Given the description of an element on the screen output the (x, y) to click on. 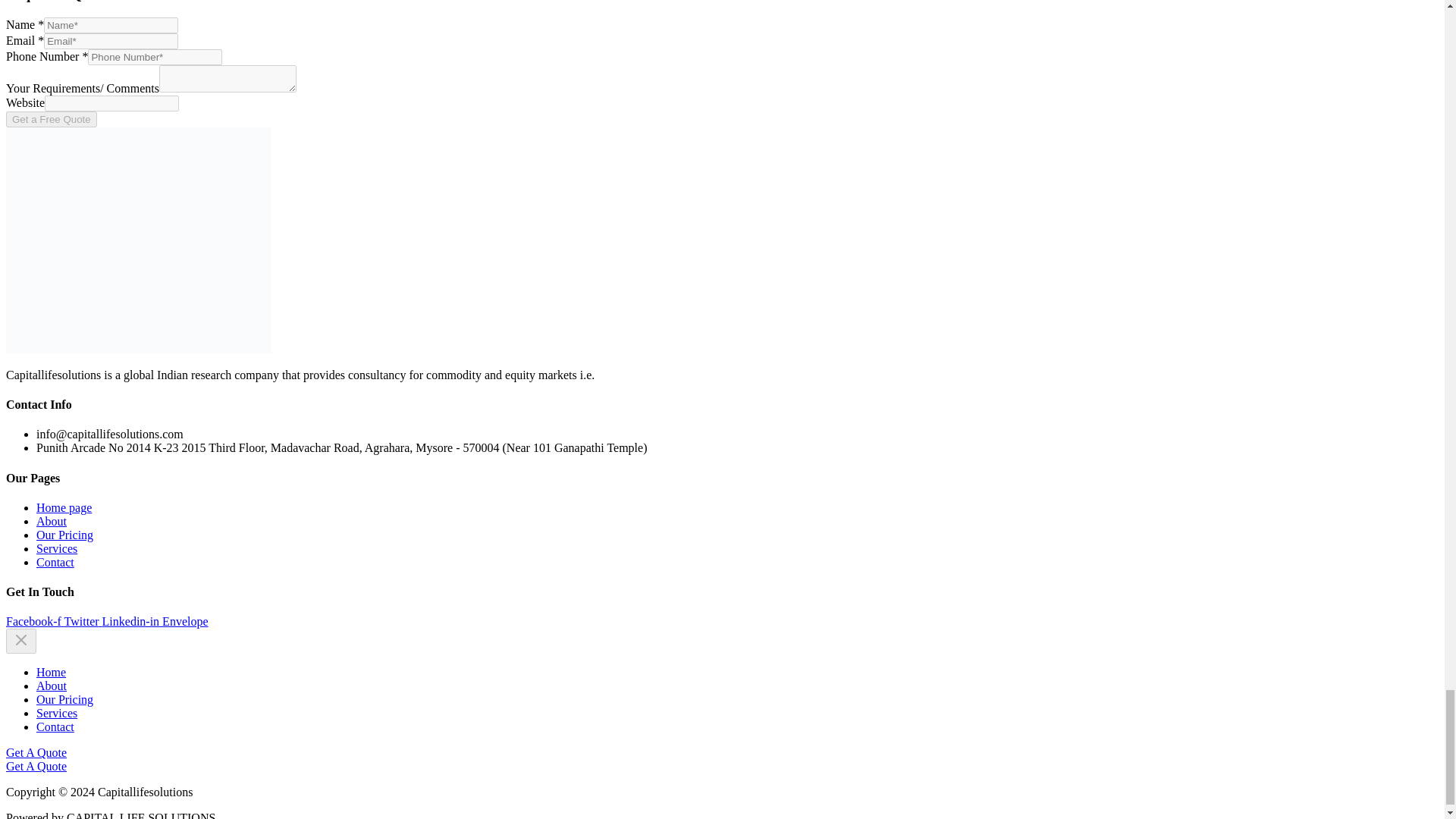
About (51, 521)
Services (56, 712)
Our Pricing (64, 698)
Envelope (184, 621)
Home (50, 671)
Contact (55, 726)
Home page (63, 507)
Facebook-f (34, 621)
About (51, 685)
Get a Free Quote (51, 119)
